Given the description of an element on the screen output the (x, y) to click on. 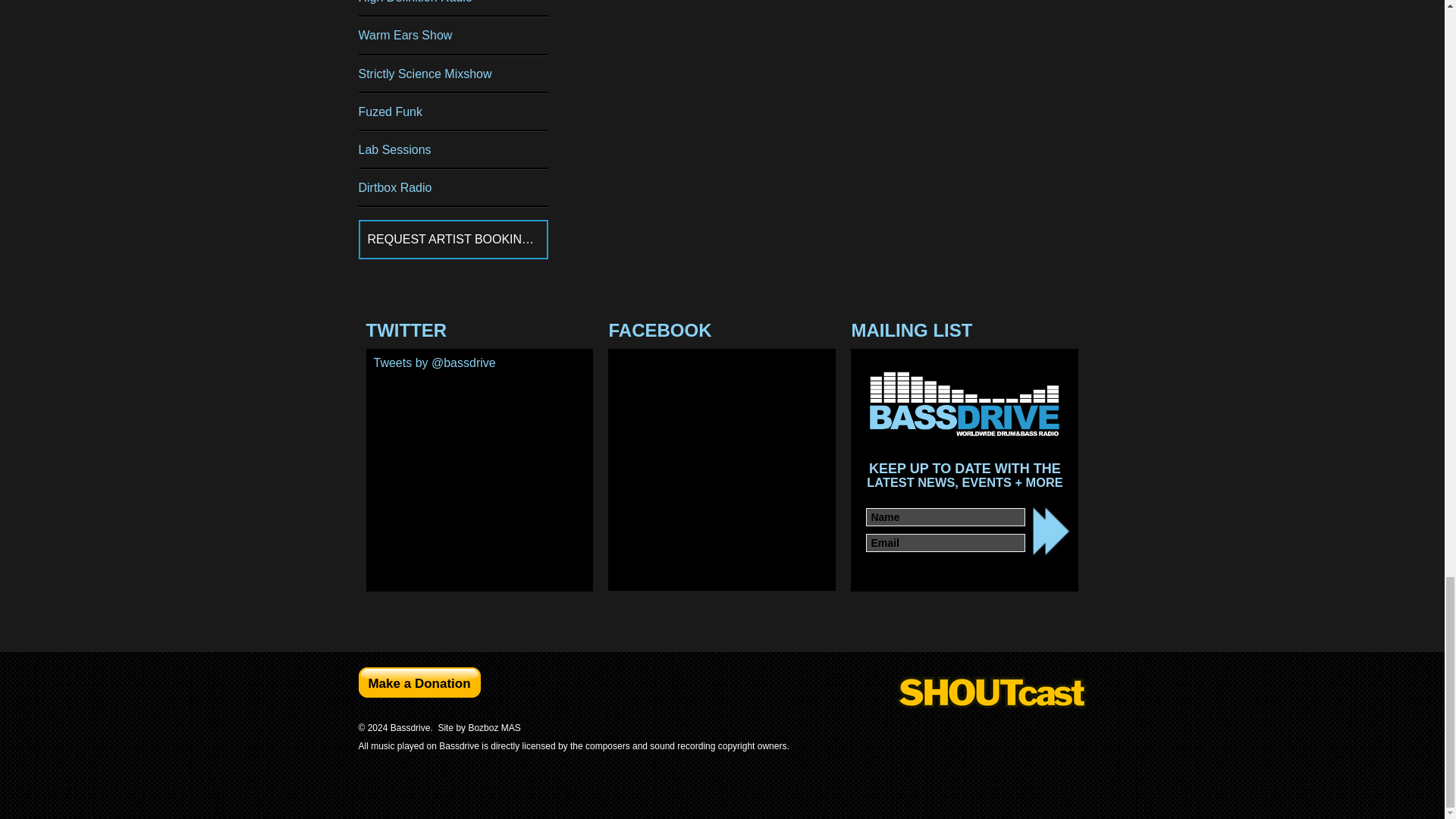
Make a Donation (419, 682)
Bozboz (493, 727)
